Given the description of an element on the screen output the (x, y) to click on. 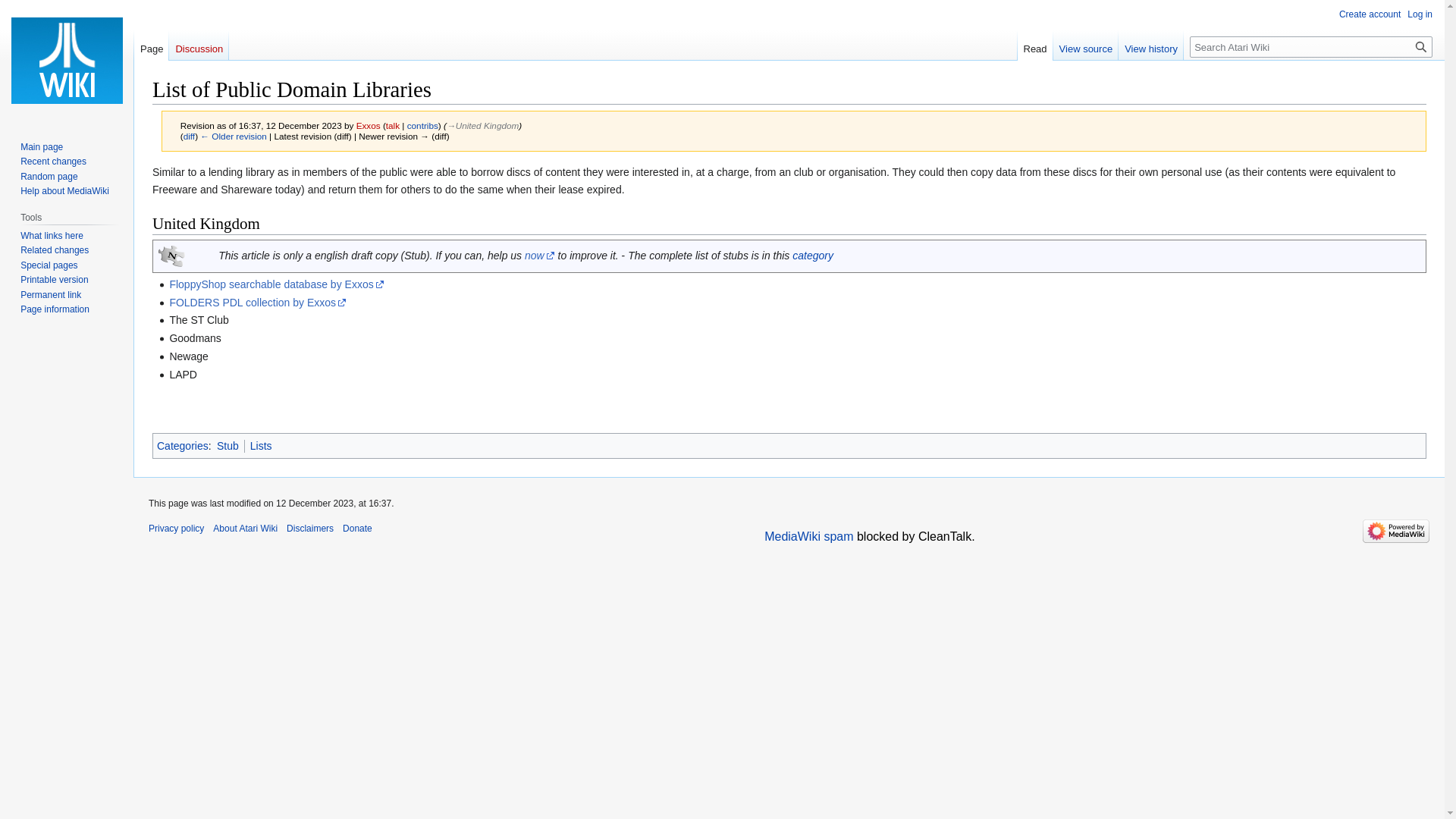
View history (1150, 45)
Permanent link (50, 294)
Create account (1369, 14)
Read (1034, 45)
WikiLetter (171, 254)
category (812, 255)
List of Public Domain Libraries (189, 135)
FOLDERS PDL collection by Exxos (257, 302)
Lists (261, 445)
Related changes (54, 249)
Printable version (53, 279)
Stub (227, 445)
Main page (41, 146)
What links here (51, 235)
Recent changes (52, 161)
